Given the description of an element on the screen output the (x, y) to click on. 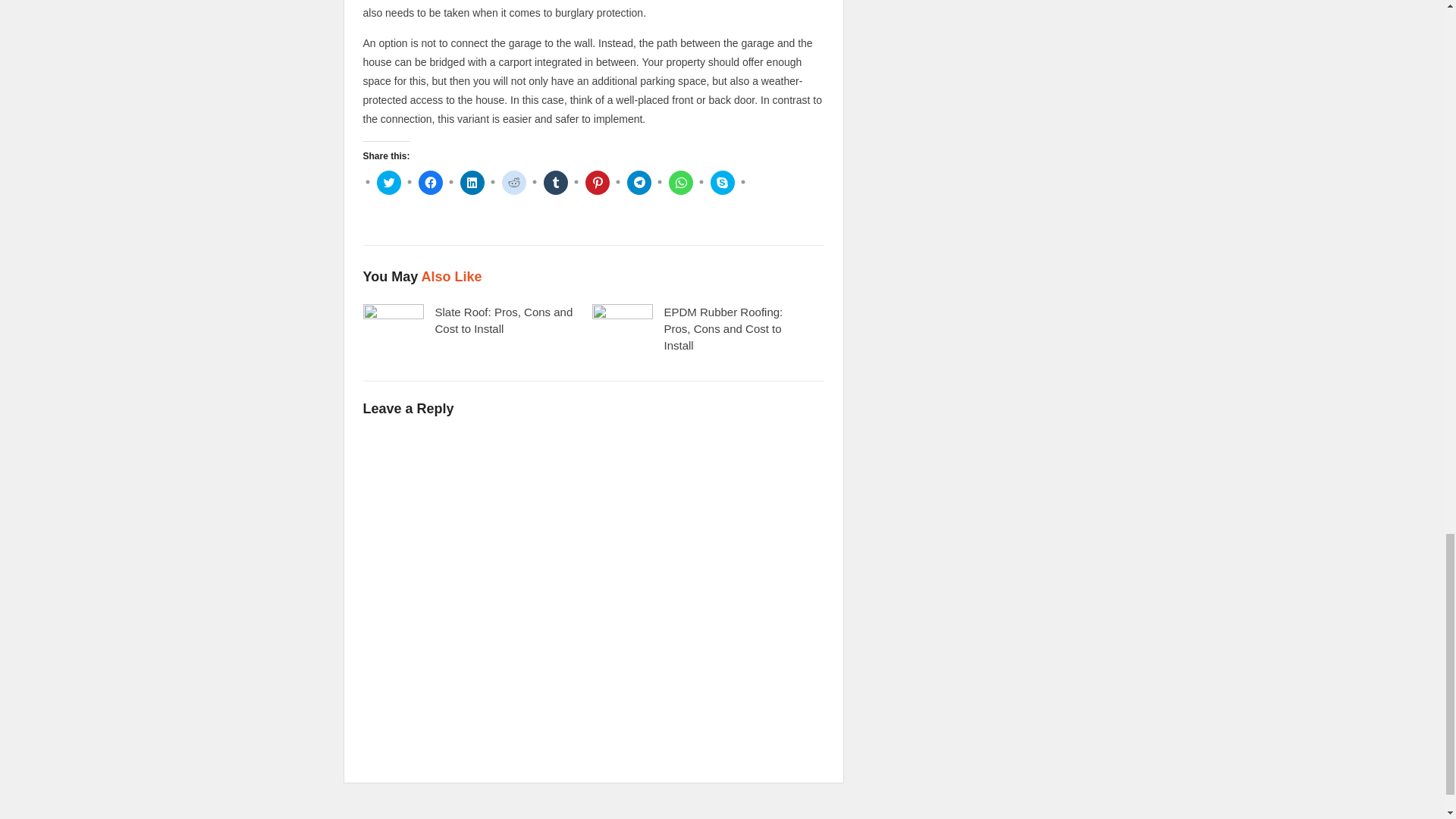
EPDM Rubber Roofing: Pros, Cons and Cost to Install (723, 328)
Click to share on Skype (721, 182)
Click to share on Facebook (430, 182)
Click to share on WhatsApp (680, 182)
Click to share on Pinterest (597, 182)
Click to share on LinkedIn (471, 182)
Slate Roof: Pros, Cons and Cost to Install (504, 319)
Click to share on Telegram (638, 182)
Click to share on Tumblr (555, 182)
